Given the description of an element on the screen output the (x, y) to click on. 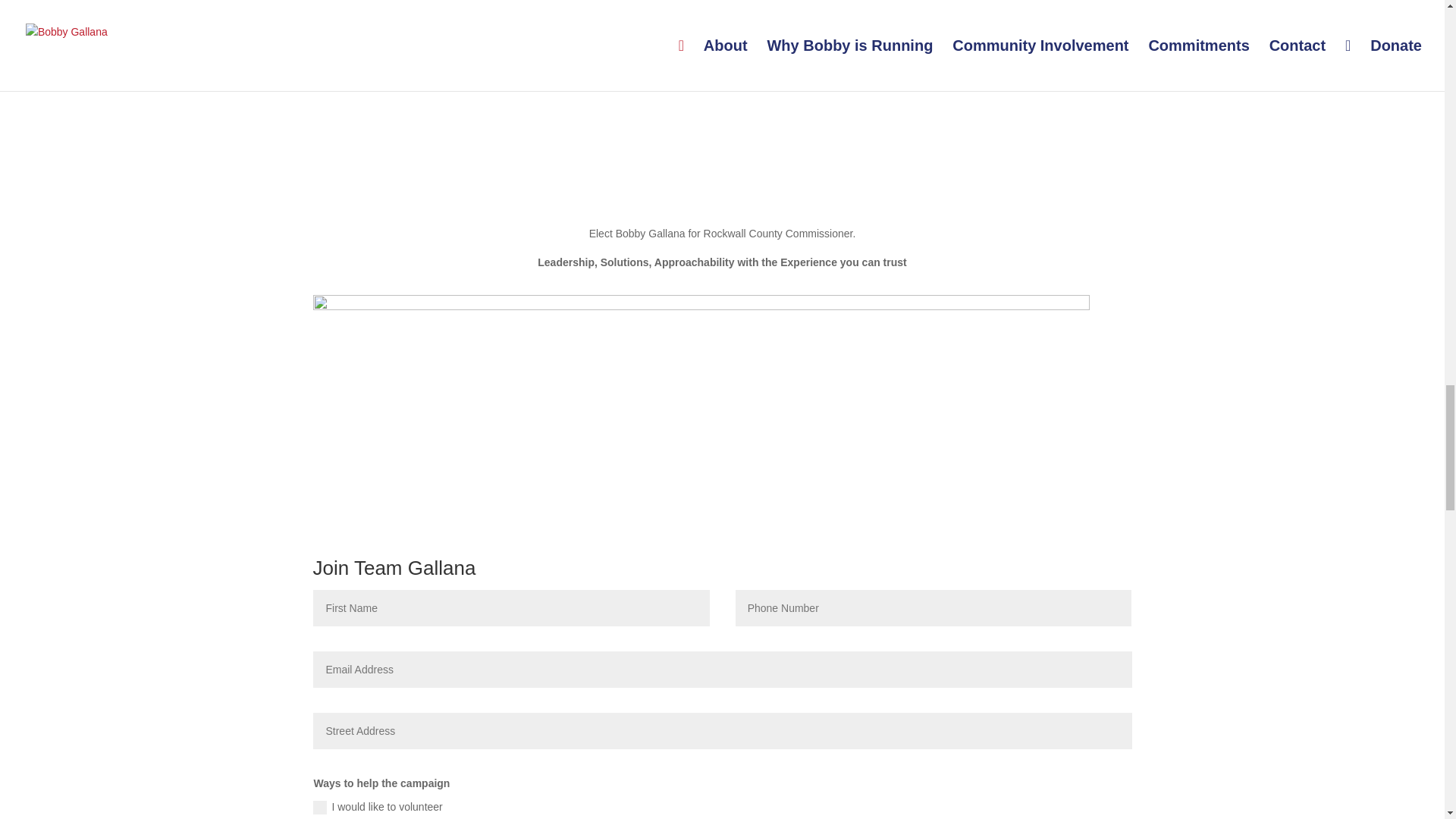
bobsig (701, 364)
